Given the description of an element on the screen output the (x, y) to click on. 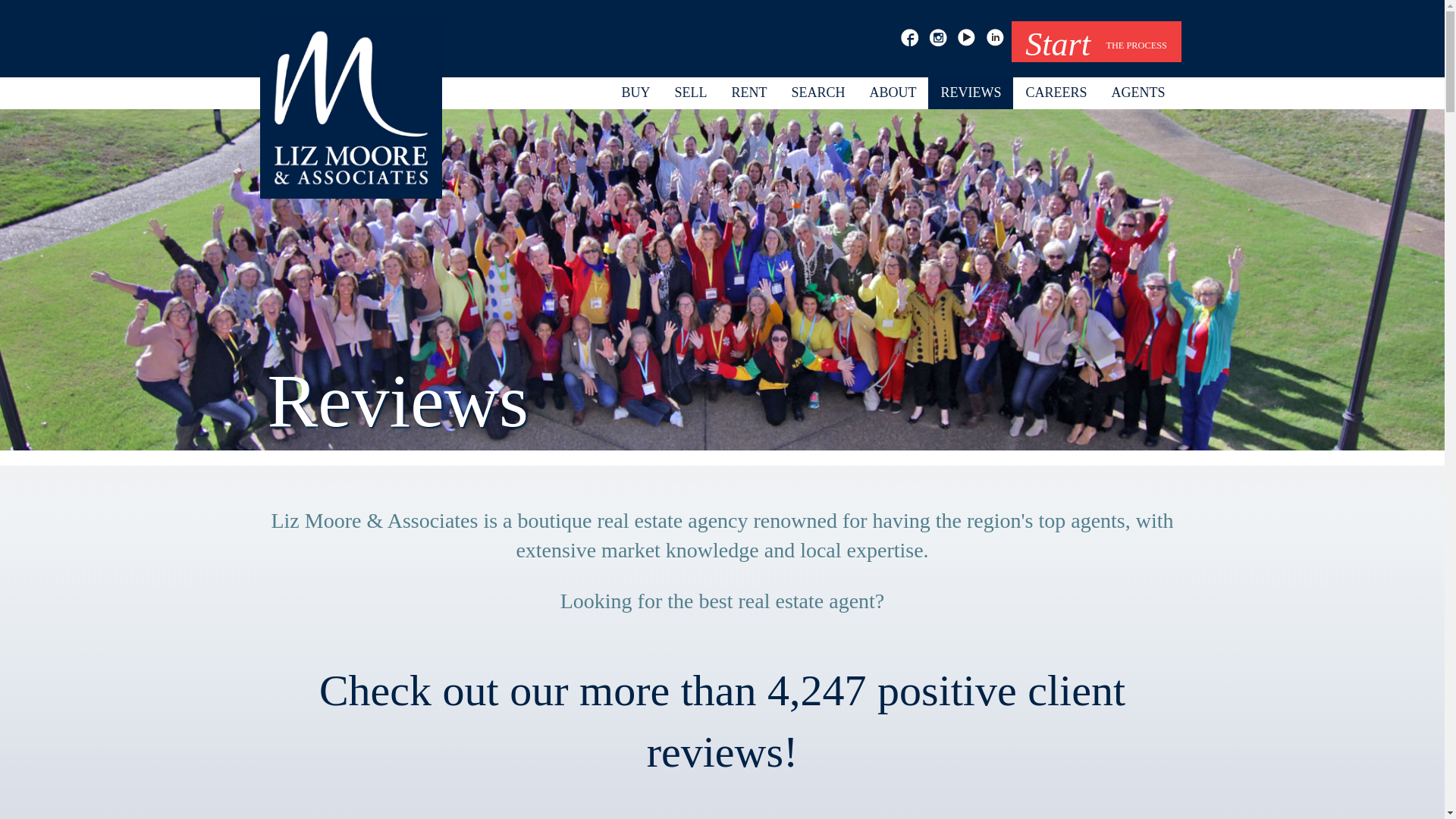
SELL (690, 92)
RENT (748, 92)
Open link in new window. (748, 92)
SEARCH (817, 92)
Start THE PROCESS (1095, 41)
BUY (635, 92)
